Given the description of an element on the screen output the (x, y) to click on. 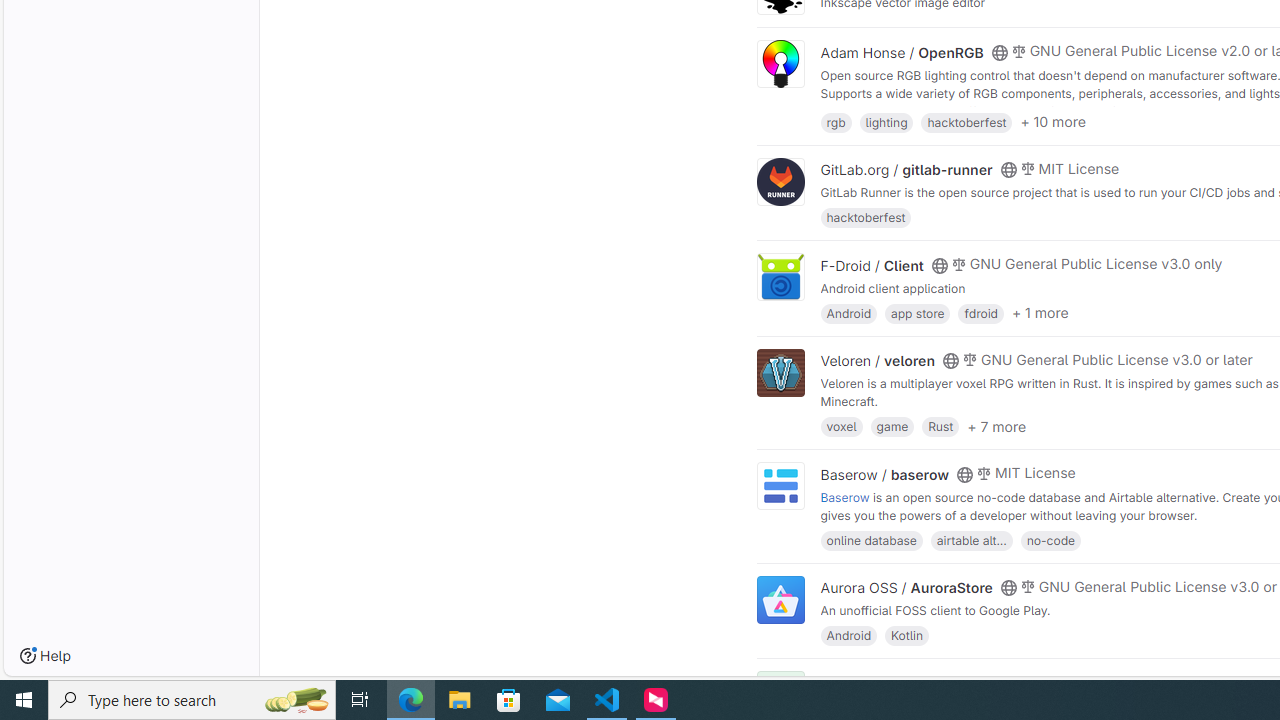
voxel (841, 426)
Baserow / baserow (884, 474)
Edouard Klein / falsisign (902, 682)
Veloren / veloren (877, 361)
+ 7 more (996, 425)
Kotlin (907, 634)
Aurora OSS / AuroraStore (906, 587)
airtable alt... (971, 539)
Rust (940, 426)
Adam Honse / OpenRGB (902, 52)
Class: s14 gl-mr-2 (1018, 681)
app store (917, 312)
lighting (886, 120)
fdroid (980, 312)
